Given the description of an element on the screen output the (x, y) to click on. 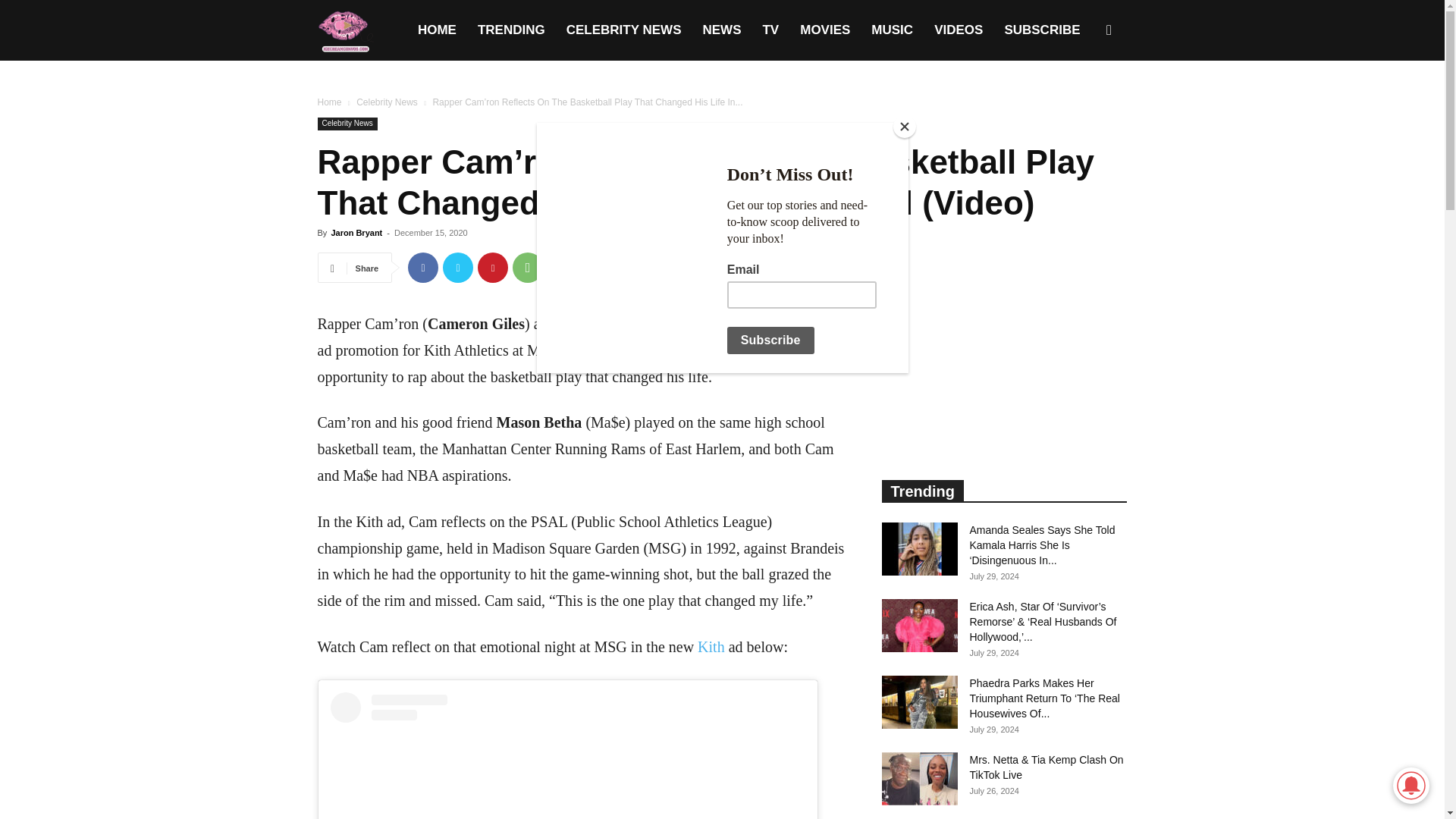
ReddIt (597, 267)
Celebrity News (386, 102)
Pinterest (492, 267)
VIDEOS (957, 30)
CELEBRITY NEWS (624, 30)
Jaron Bryant (355, 232)
Search (1085, 102)
MUSIC (891, 30)
MOVIES (824, 30)
SUBSCRIBE (1041, 30)
Celebrity News (347, 123)
Linkedin (562, 267)
View all posts in Celebrity News (386, 102)
Facebook (422, 267)
Home (328, 102)
